Given the description of an element on the screen output the (x, y) to click on. 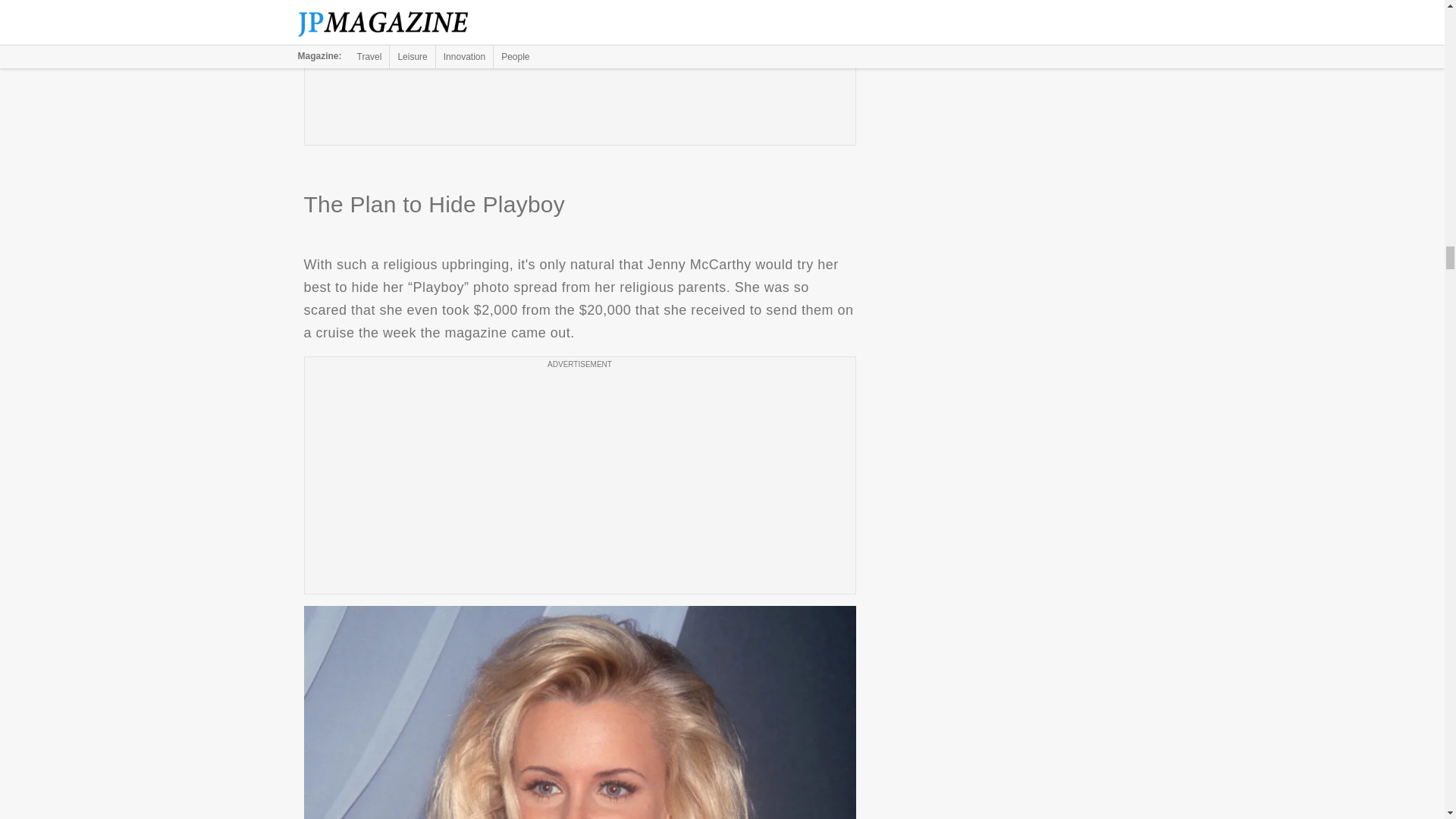
The Plan to Hide Playboy (579, 712)
